Given the description of an element on the screen output the (x, y) to click on. 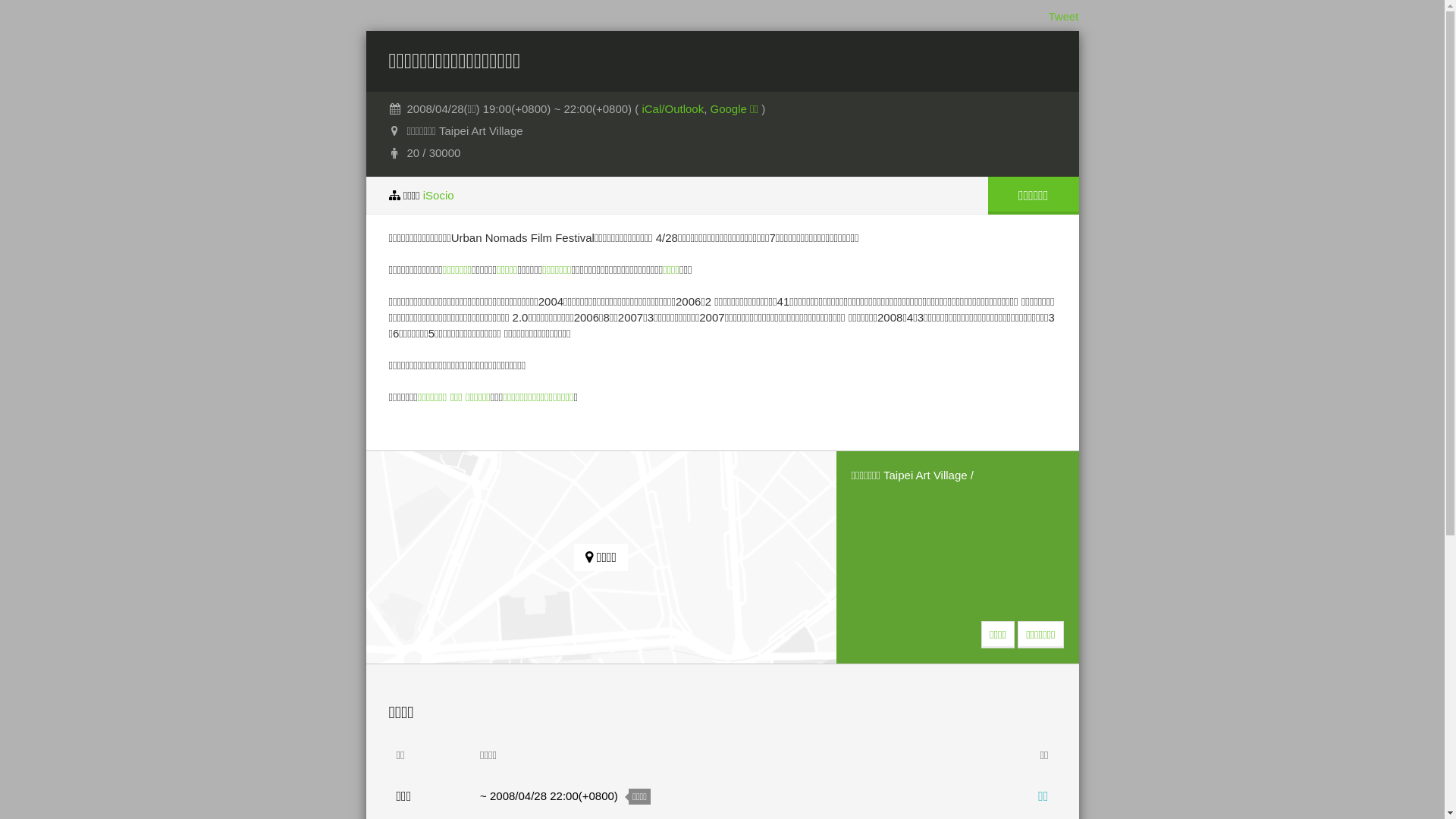
iCal/Outlook Element type: text (672, 108)
Tweet Element type: text (1063, 15)
iSocio Element type: text (438, 194)
